Given the description of an element on the screen output the (x, y) to click on. 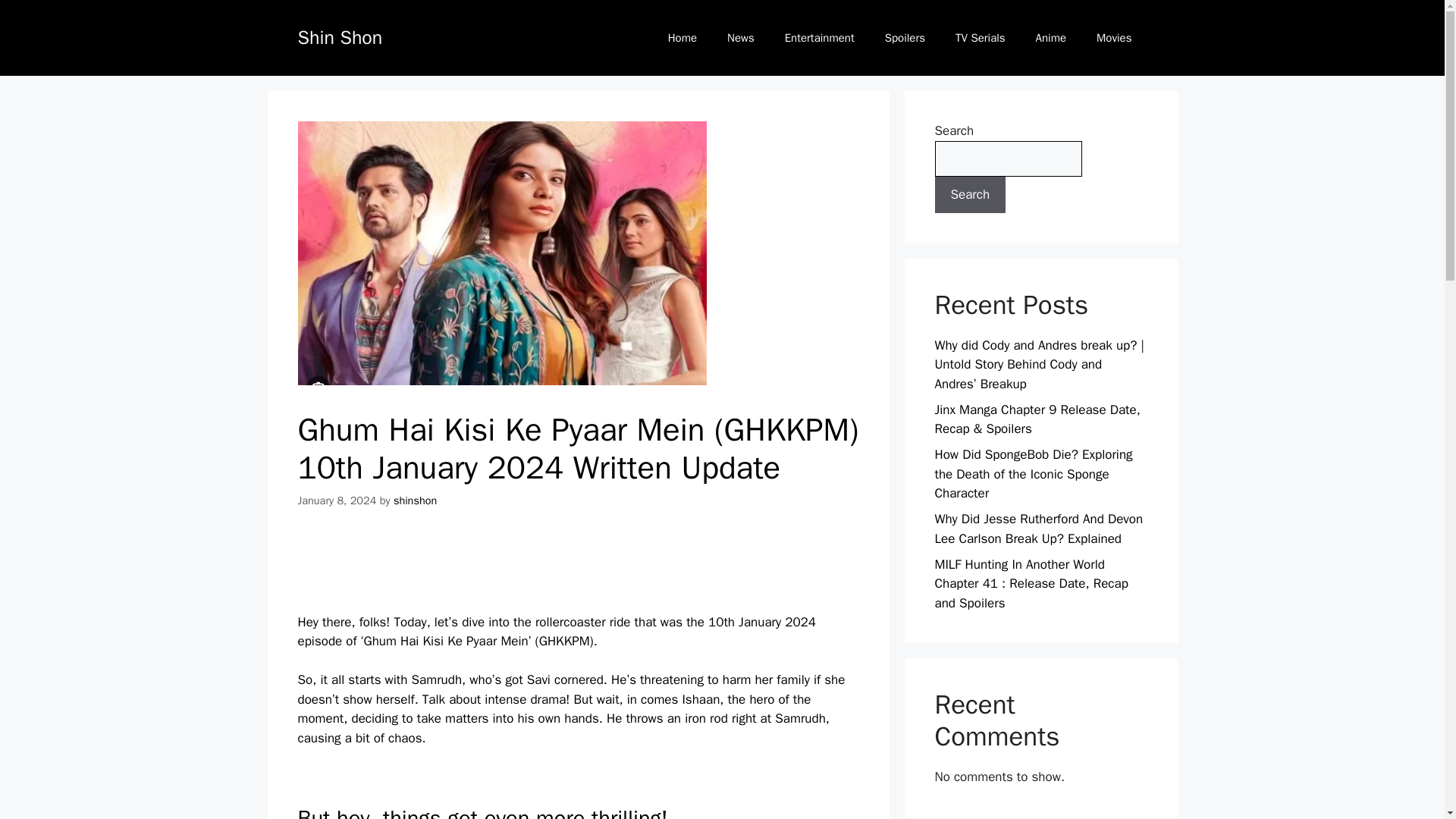
shinshon (414, 499)
Entertainment (819, 37)
Home (681, 37)
Shin Shon (339, 37)
View all posts by shinshon (414, 499)
TV Serials (980, 37)
Anime (1050, 37)
Search (970, 194)
